Given the description of an element on the screen output the (x, y) to click on. 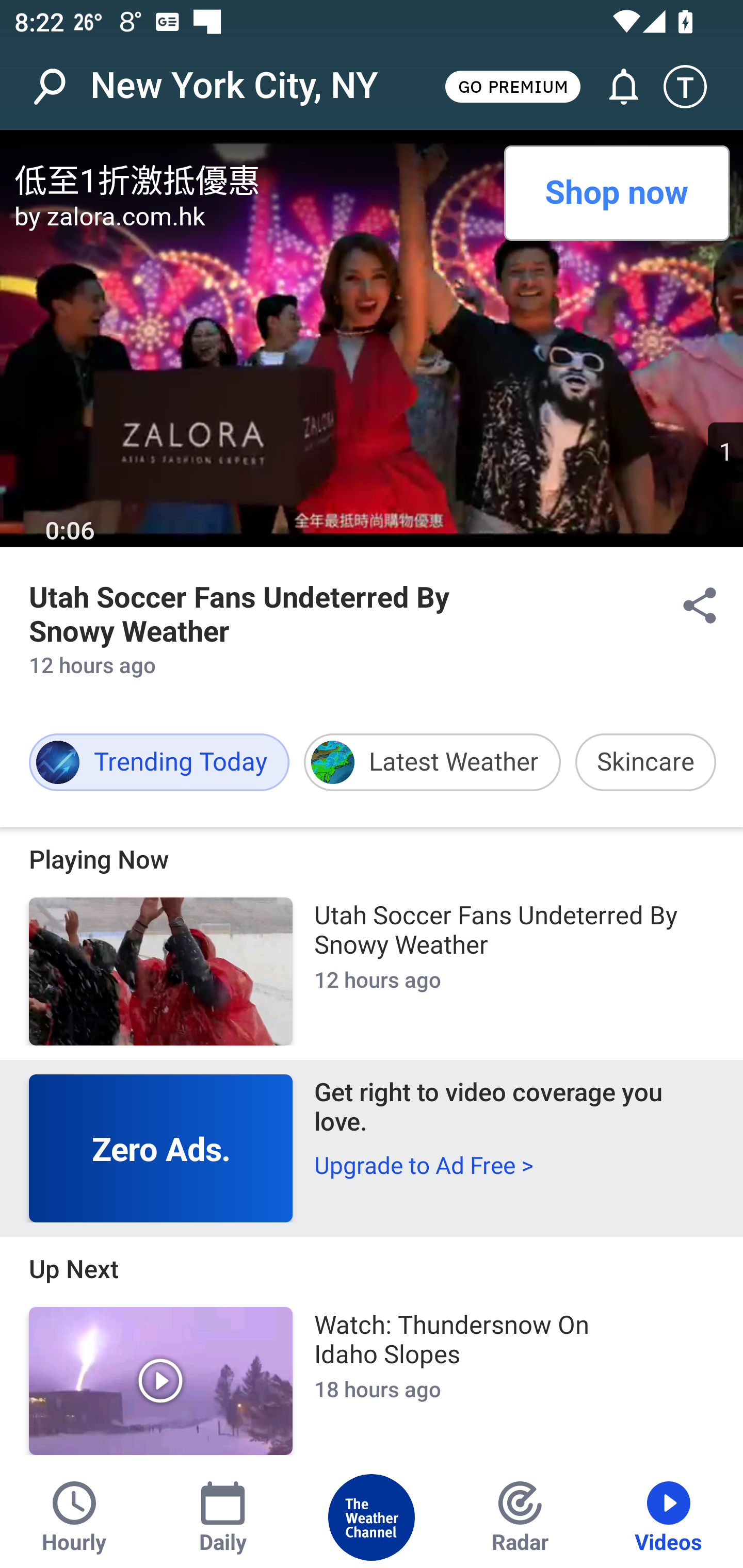
Search (59, 86)
Go to Alerts and Notifications (614, 86)
Setting icon T (694, 86)
New York City, NY (234, 85)
GO PREMIUM (512, 85)
Shop now (616, 192)
低至1折激抵優惠 (252, 177)
by zalora.com.hk (252, 216)
Skip Ad Countdown (725, 452)
0:06 (70, 530)
Trending Today (158, 762)
Latest Weather (431, 762)
Skincare (645, 762)
Play (160, 1381)
Hourly Tab Hourly (74, 1517)
Daily Tab Daily (222, 1517)
Home Tab (371, 1517)
Radar Tab Radar (519, 1517)
